Given the description of an element on the screen output the (x, y) to click on. 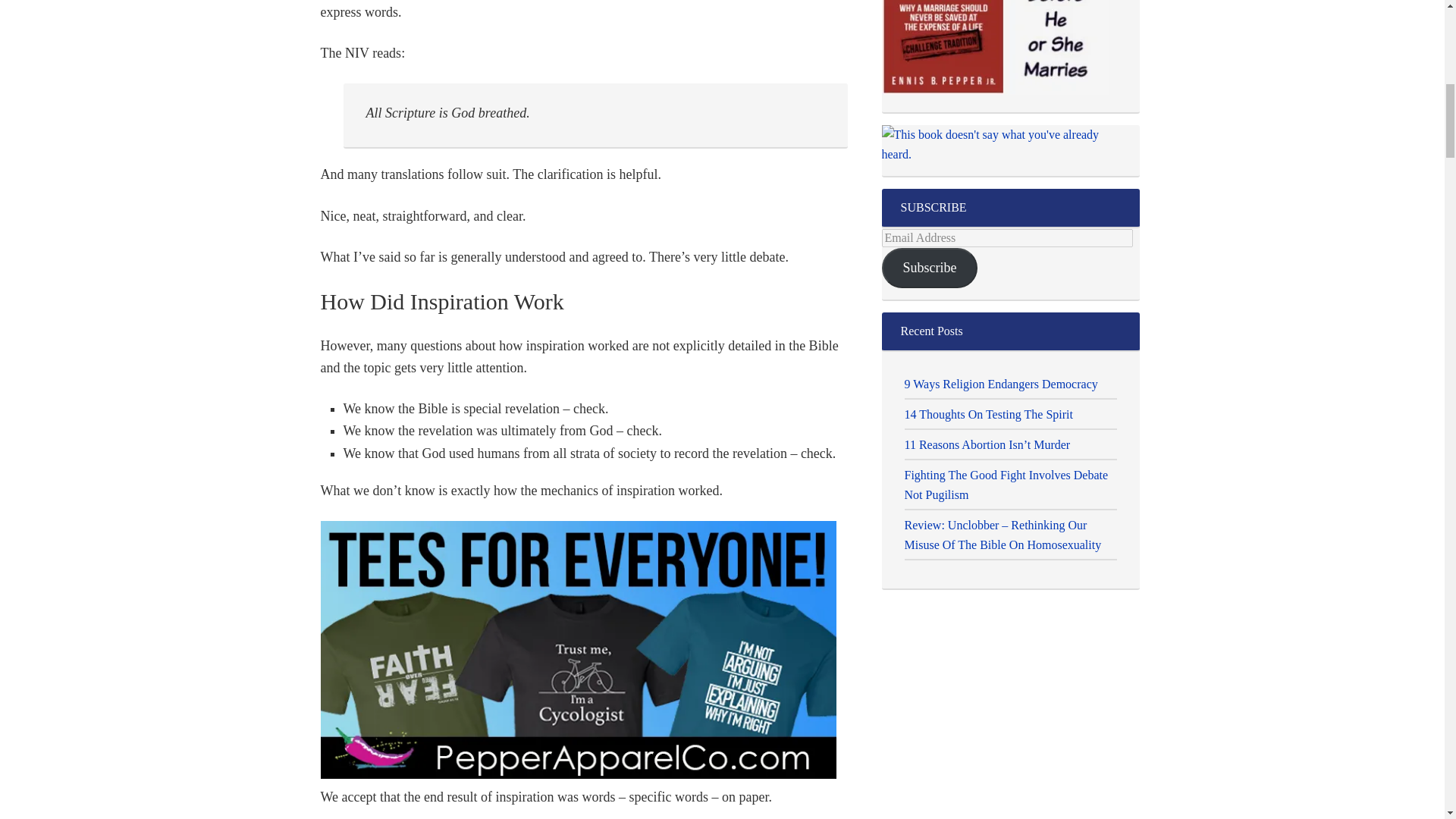
Subscribe (928, 268)
Fighting The Good Fight Involves Debate Not Pugilism (1006, 484)
9 Ways Religion Endangers Democracy (1000, 383)
14 Thoughts On Testing The Spirit (987, 413)
